Given the description of an element on the screen output the (x, y) to click on. 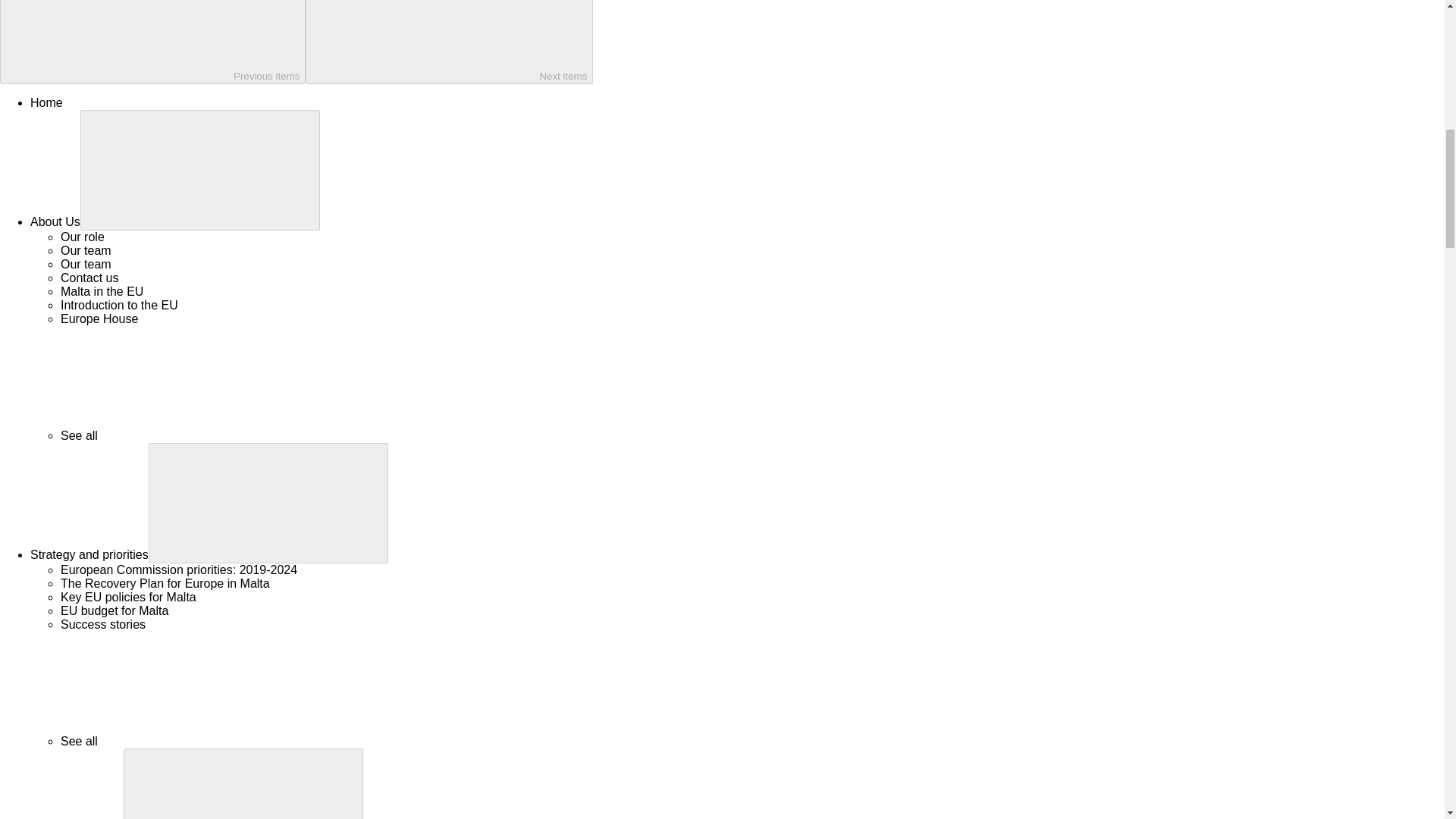
Previous items (152, 42)
Home (46, 102)
Introduction to the EU (119, 305)
Our role (82, 236)
Next items (448, 42)
Our team (86, 250)
EU budget for Malta (114, 610)
Strategy and priorities (89, 554)
European Commission priorities: 2019-2024 (179, 569)
Contact us (89, 277)
Our team (86, 264)
Europe House (99, 318)
The Recovery Plan for Europe in Malta (165, 583)
See all (192, 435)
Malta in the EU (101, 291)
